Given the description of an element on the screen output the (x, y) to click on. 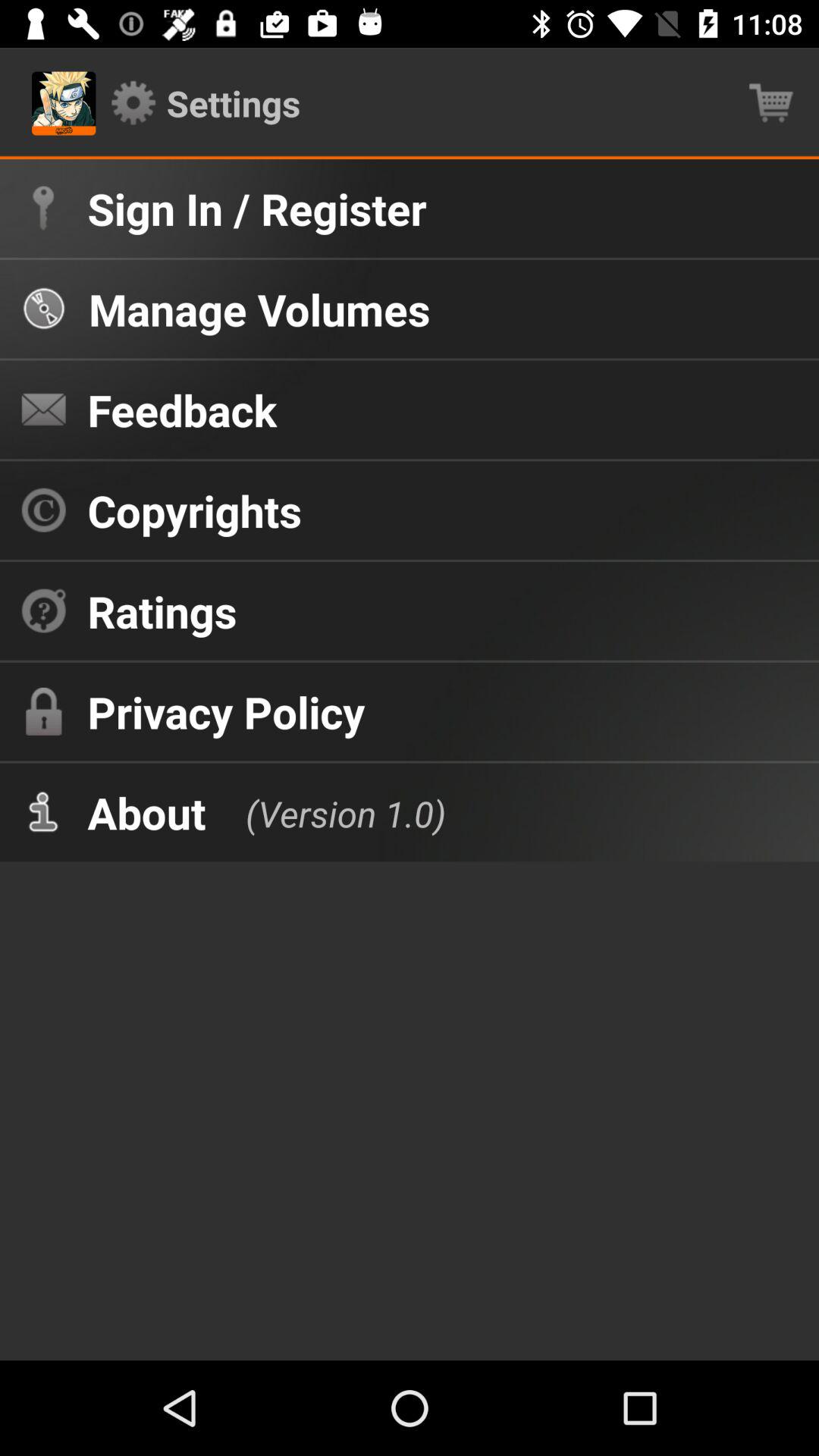
click item below ratings item (226, 711)
